Given the description of an element on the screen output the (x, y) to click on. 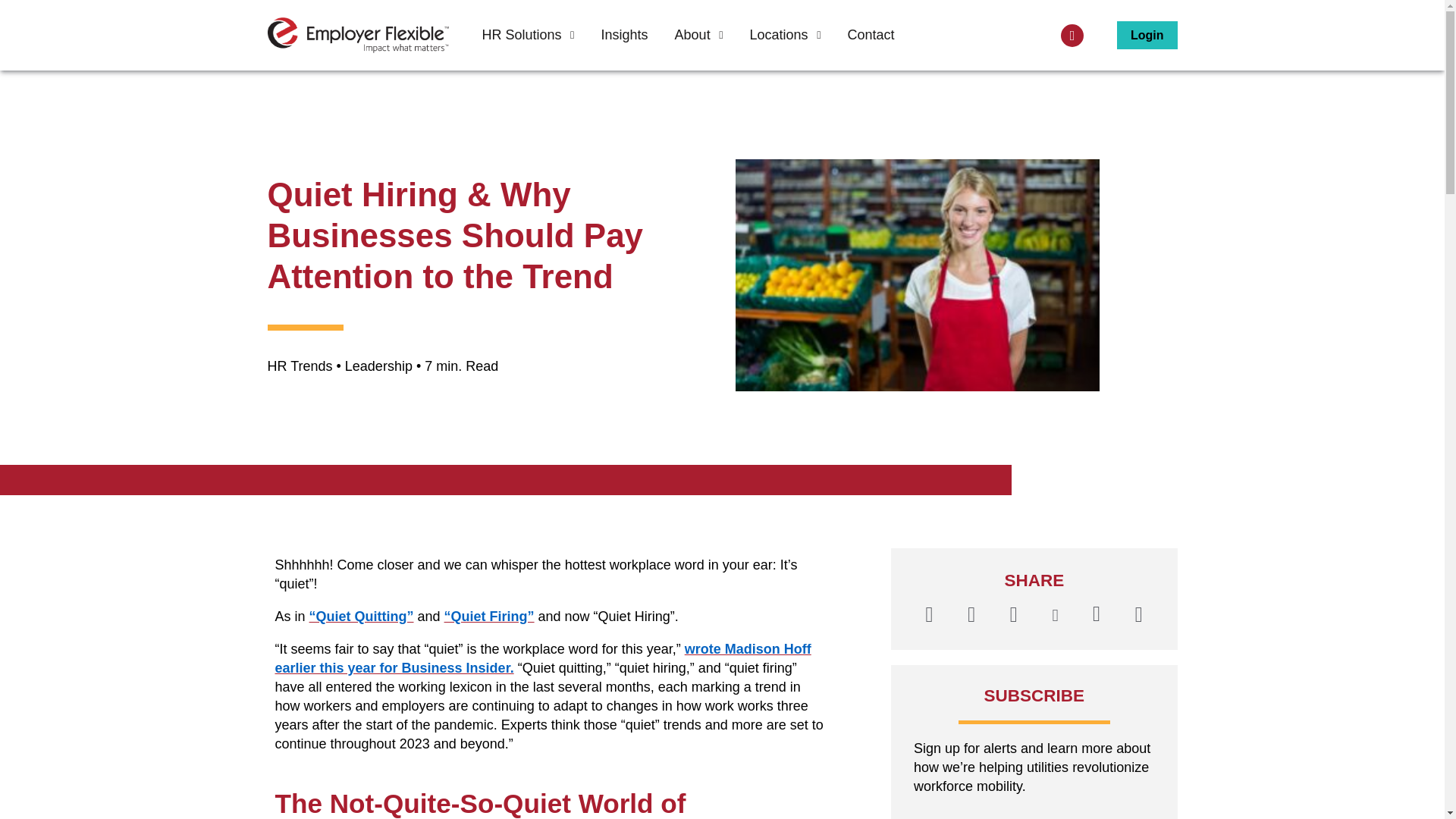
wrote Madison Hoff earlier this year for Business Insider. (542, 658)
Login (1146, 35)
Insights (623, 35)
Contact (871, 35)
